Given the description of an element on the screen output the (x, y) to click on. 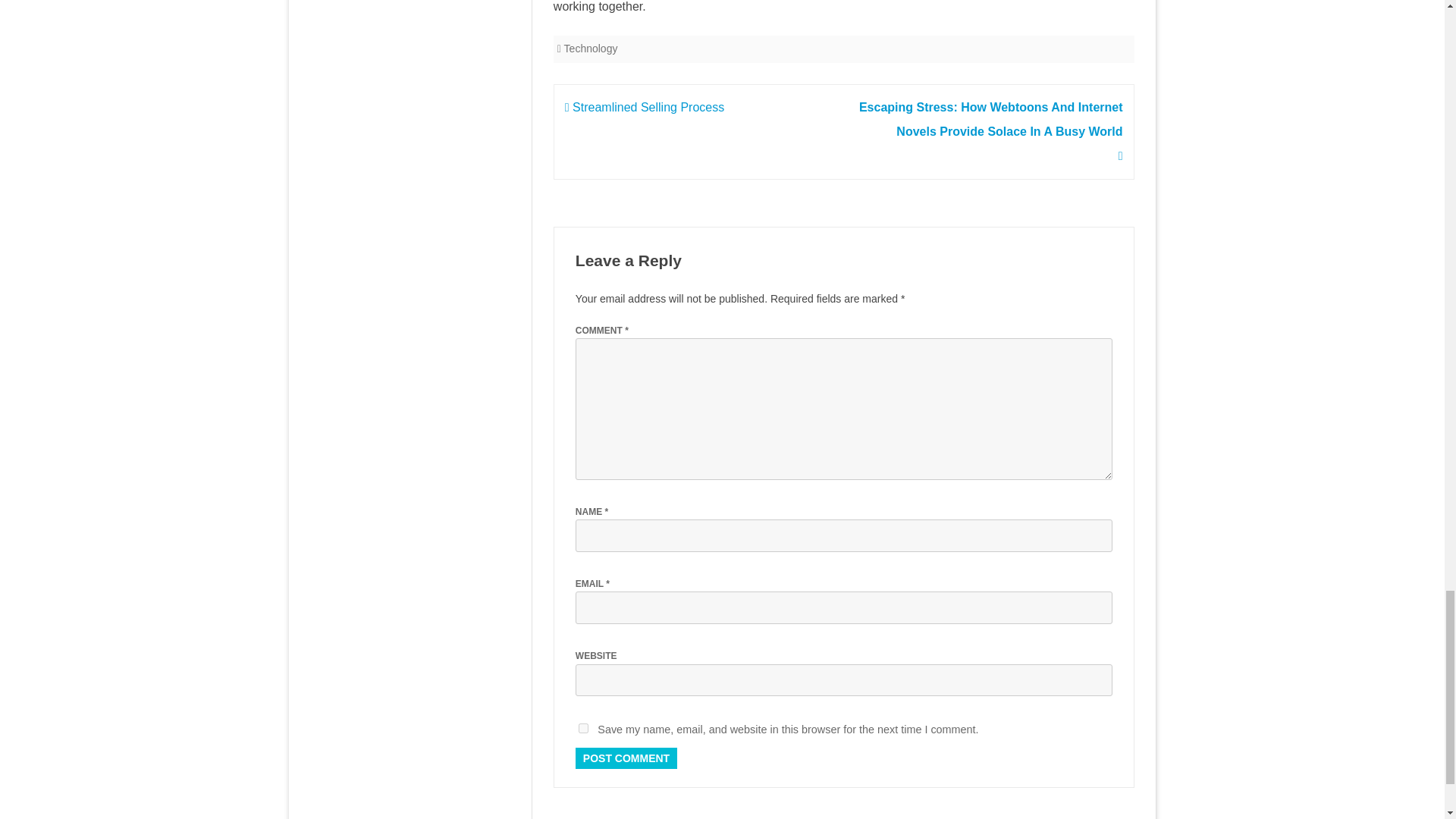
Post Comment (626, 758)
yes (583, 728)
